Given the description of an element on the screen output the (x, y) to click on. 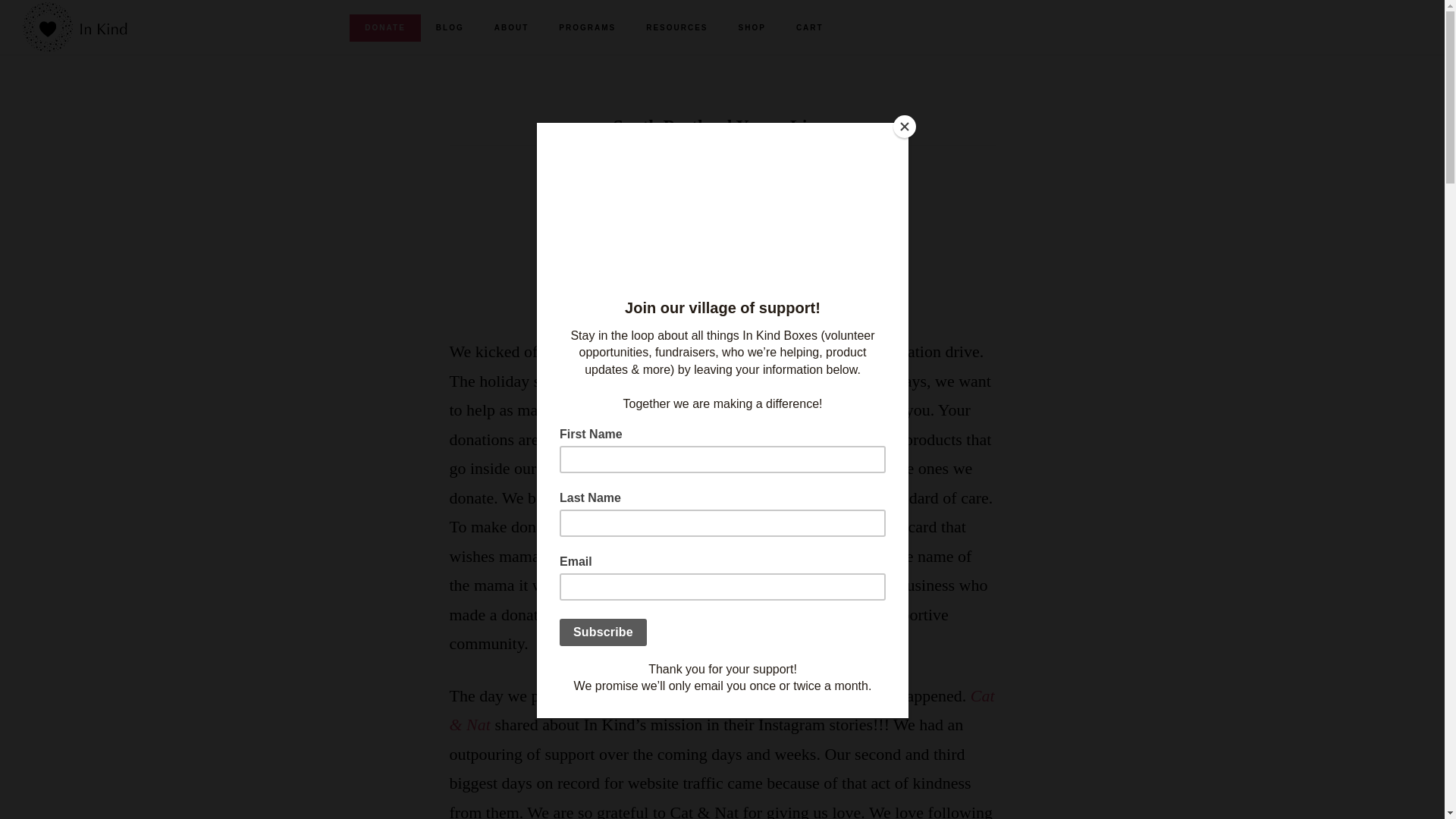
ABOUT (511, 27)
November Update (722, 212)
SHOP (751, 27)
BLOG (449, 27)
CART (809, 27)
IN KIND BOXES (98, 26)
RESOURCES (676, 27)
In Kind (788, 262)
PROGRAMS (586, 27)
DONATE (384, 27)
